Given the description of an element on the screen output the (x, y) to click on. 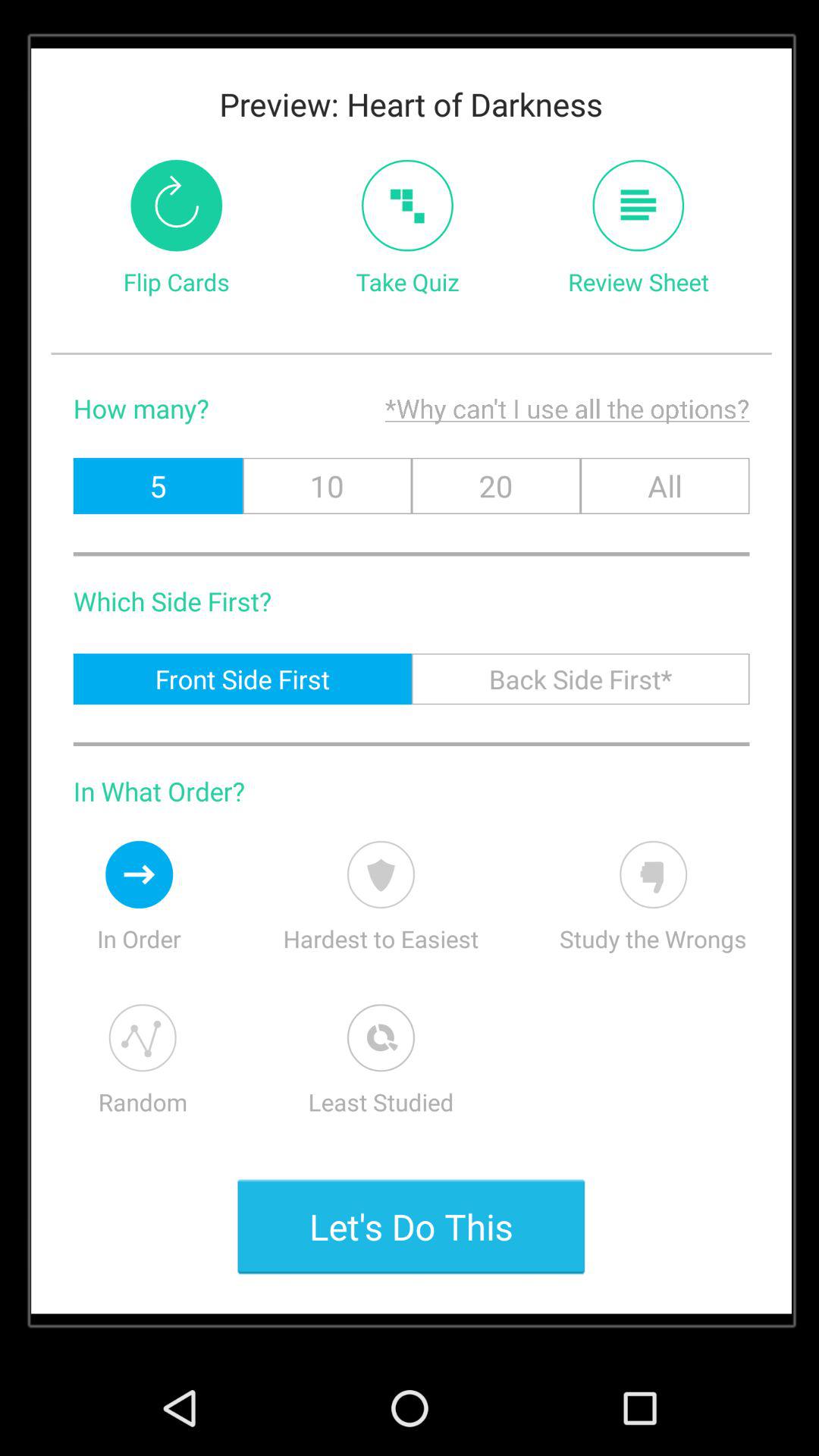
go to next (139, 874)
